Given the description of an element on the screen output the (x, y) to click on. 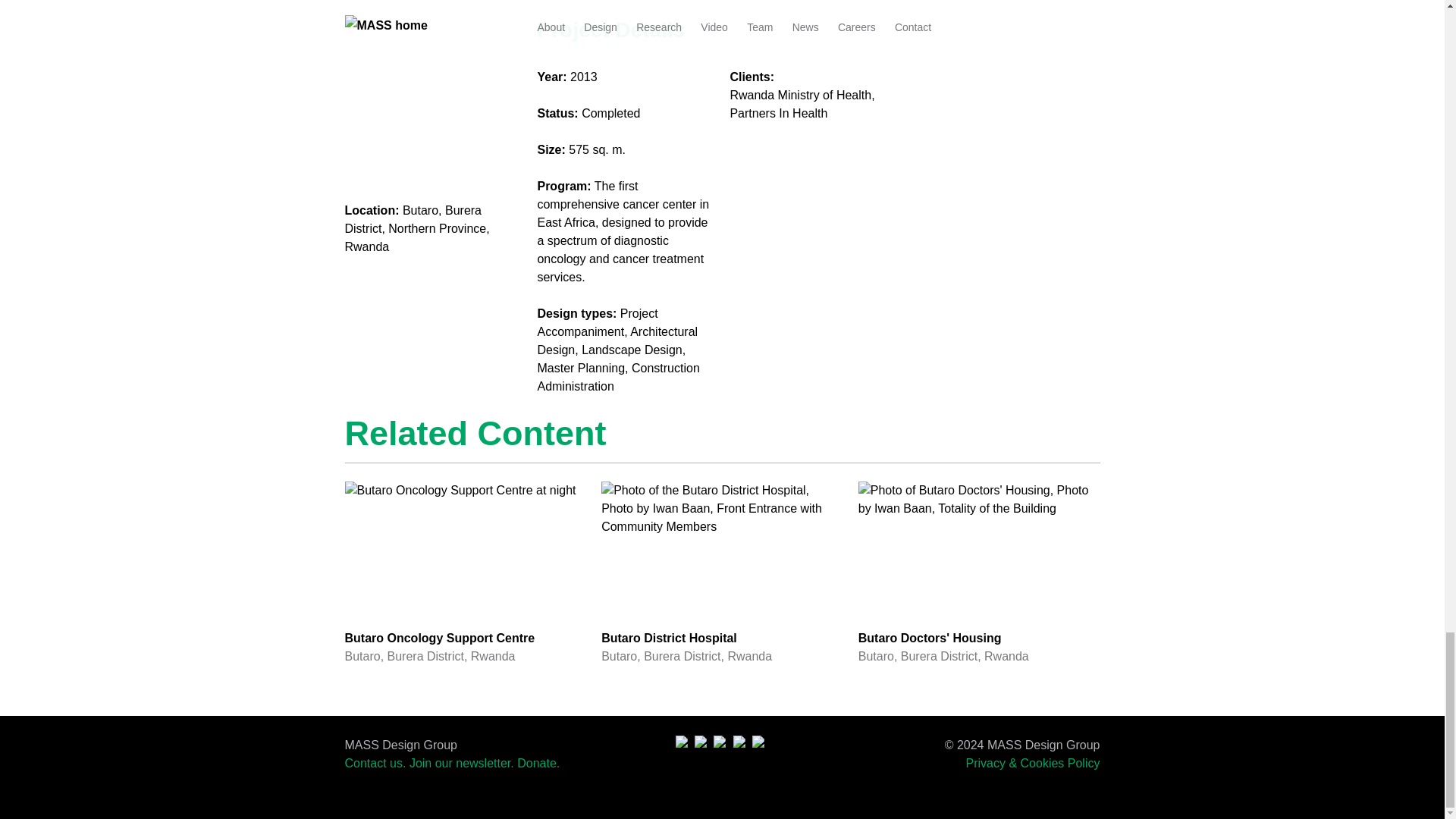
Donate. (979, 573)
Contact us. (537, 762)
Join our newsletter. (722, 573)
